Given the description of an element on the screen output the (x, y) to click on. 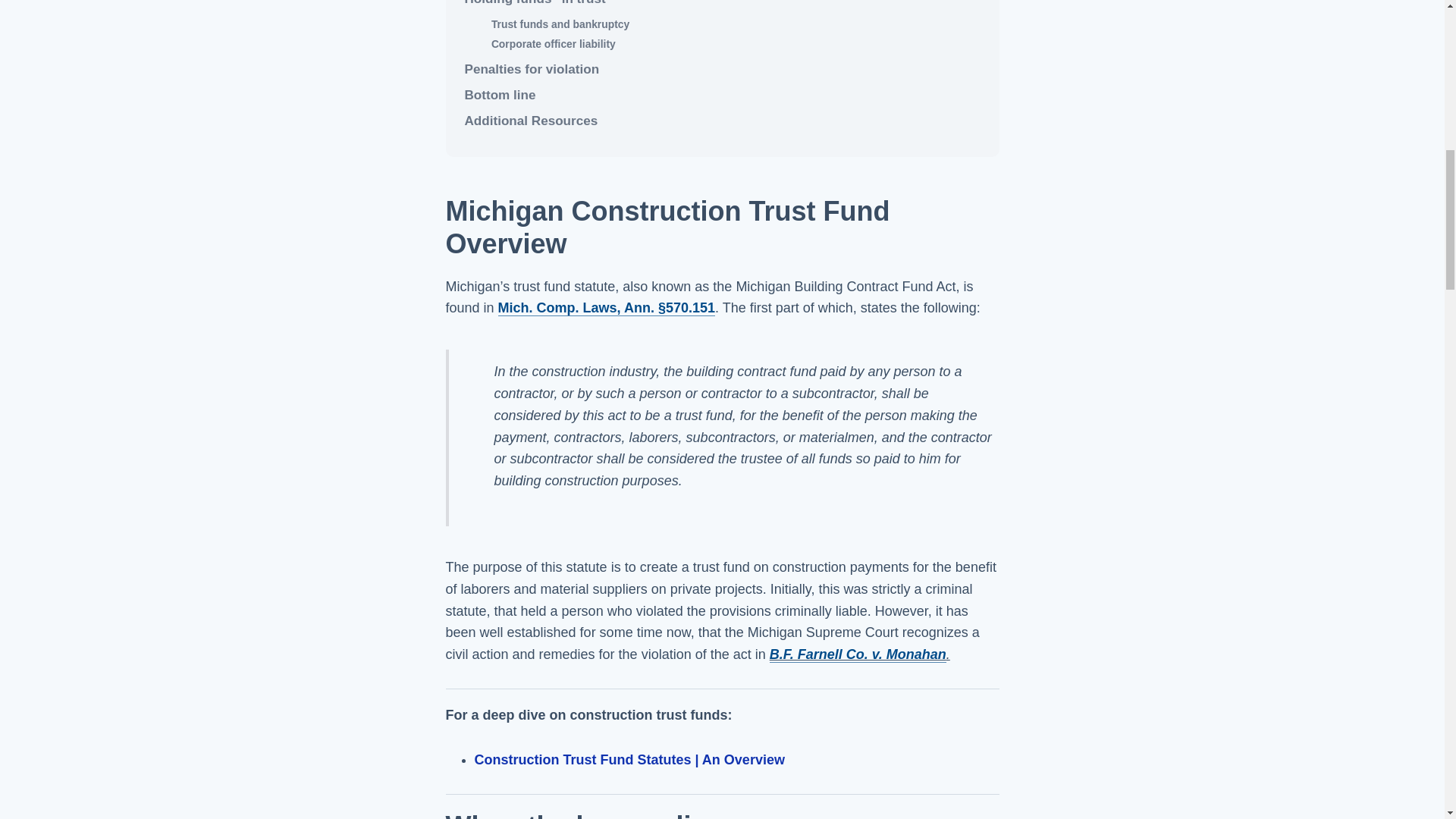
Penalties for violation (721, 69)
Additional Resources (721, 121)
Trust funds and bankruptcy (735, 24)
Corporate officer liability (735, 43)
Bottom line (721, 95)
